Given the description of an element on the screen output the (x, y) to click on. 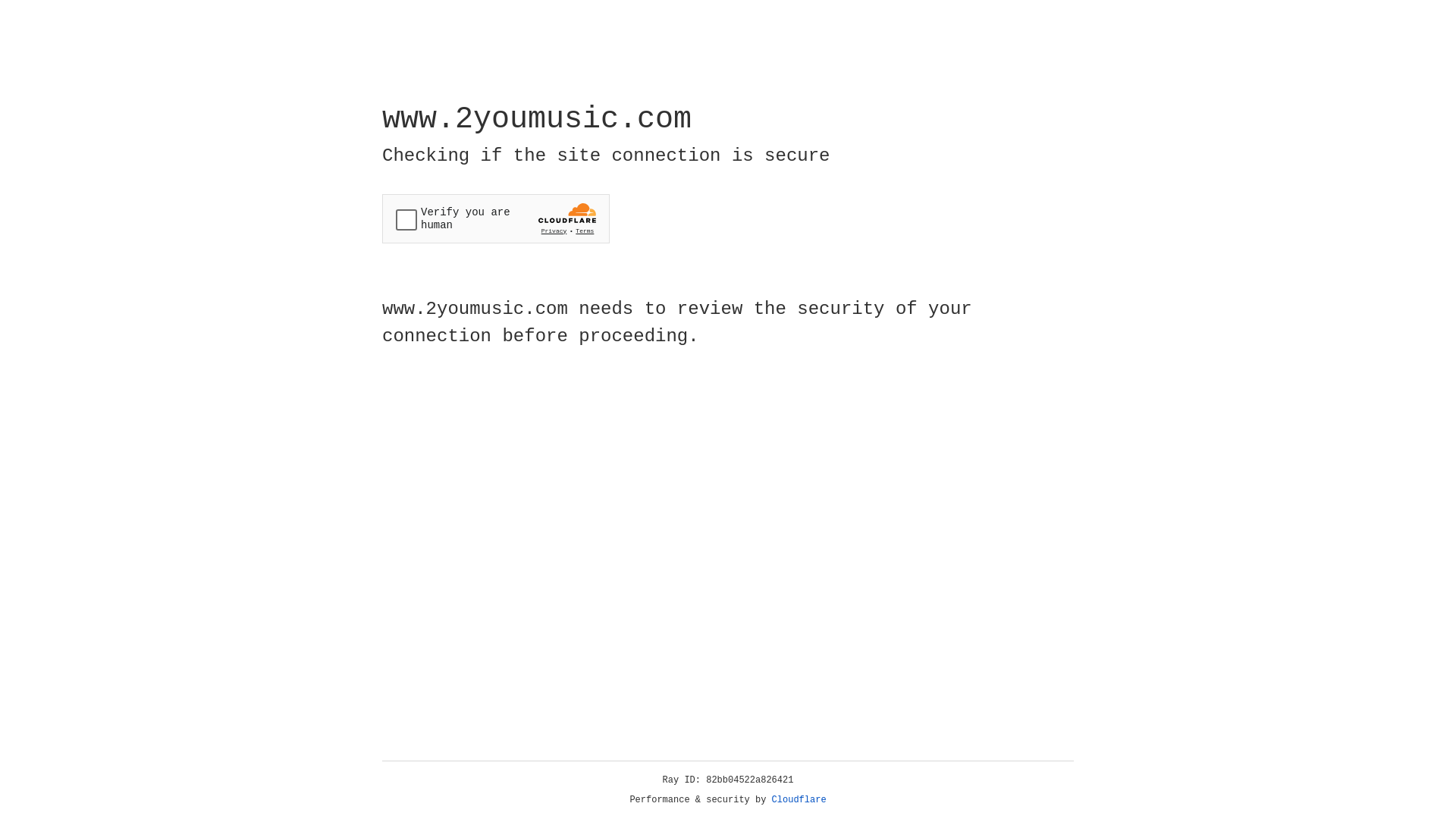
Widget containing a Cloudflare security challenge Element type: hover (495, 218)
Cloudflare Element type: text (798, 799)
